Given the description of an element on the screen output the (x, y) to click on. 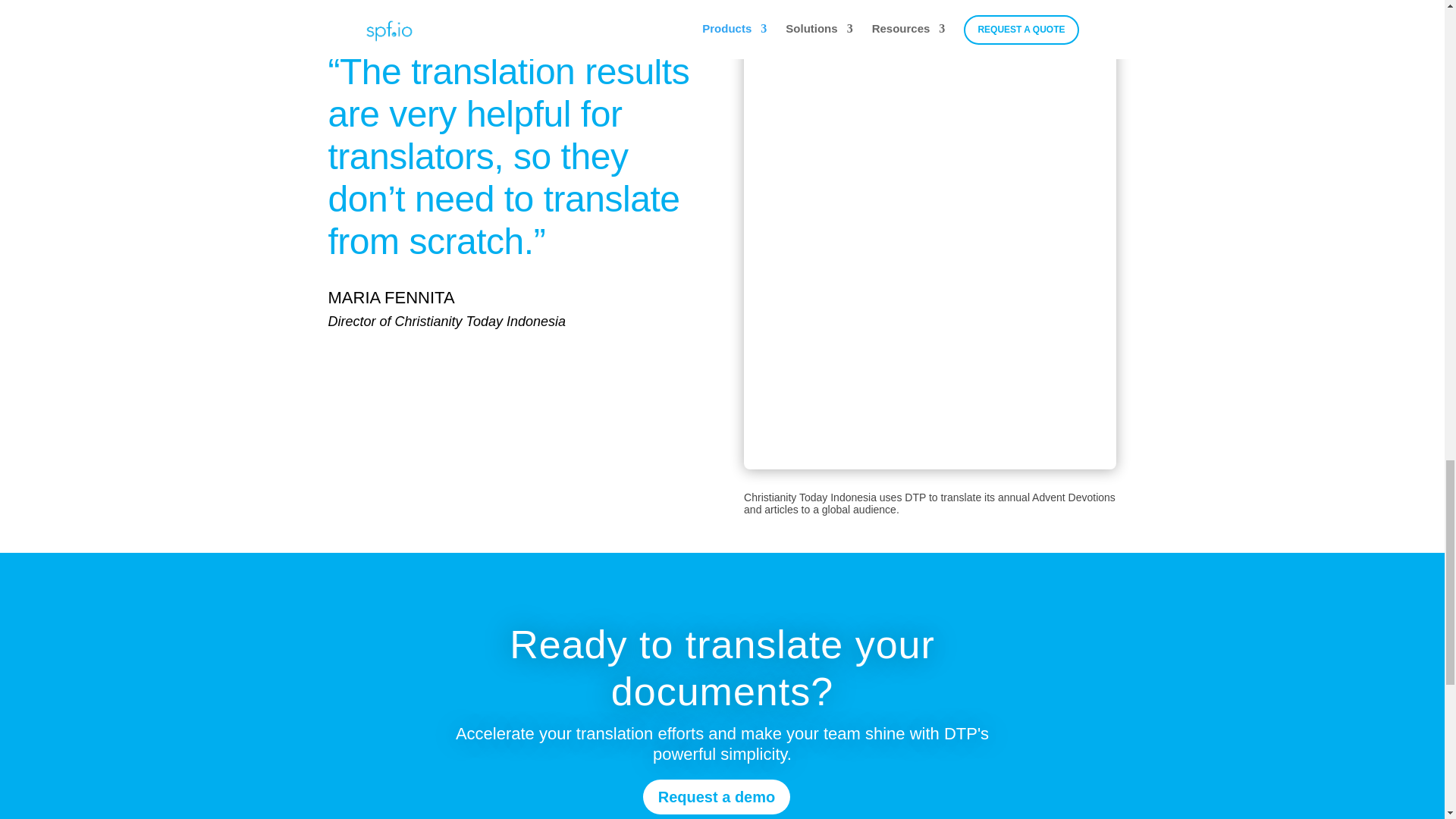
Request a demo (716, 796)
